Given the description of an element on the screen output the (x, y) to click on. 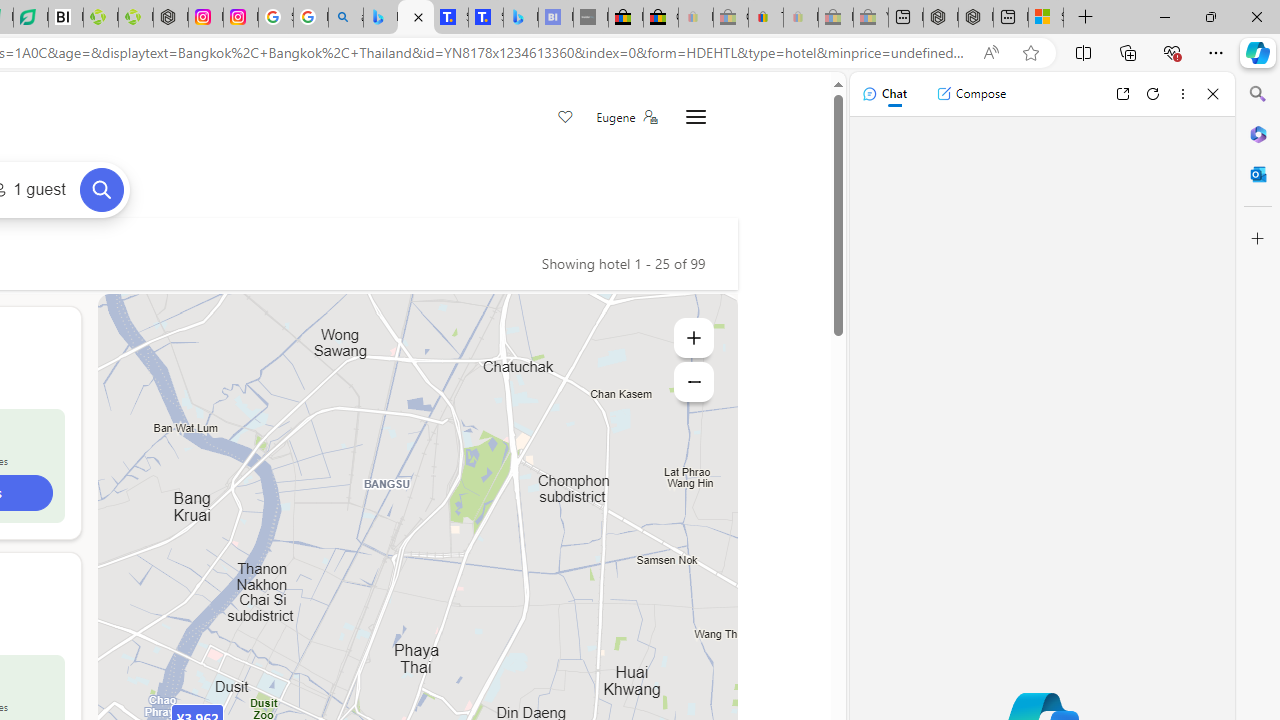
Microsoft Bing Travel - Shangri-La Hotel Bangkok (520, 17)
Press Room - eBay Inc. - Sleeping (835, 17)
Chat (884, 93)
Threats and offensive language policy | eBay (765, 17)
Shangri-La Bangkok, Hotel reviews and Room rates (485, 17)
Nordace - Nordace Edin Collection (170, 17)
Sign in to your Microsoft account (1046, 17)
Save (565, 118)
